Given the description of an element on the screen output the (x, y) to click on. 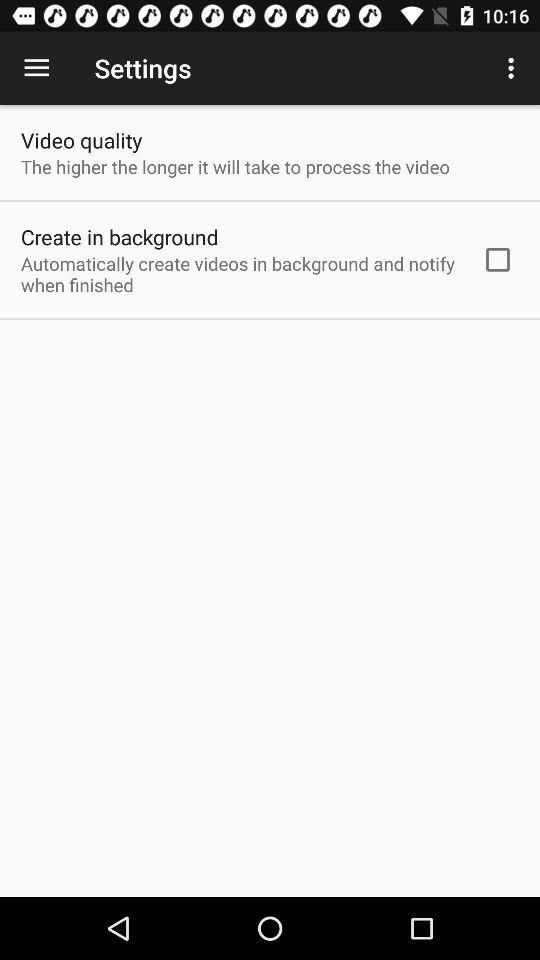
press the higher the icon (235, 166)
